Given the description of an element on the screen output the (x, y) to click on. 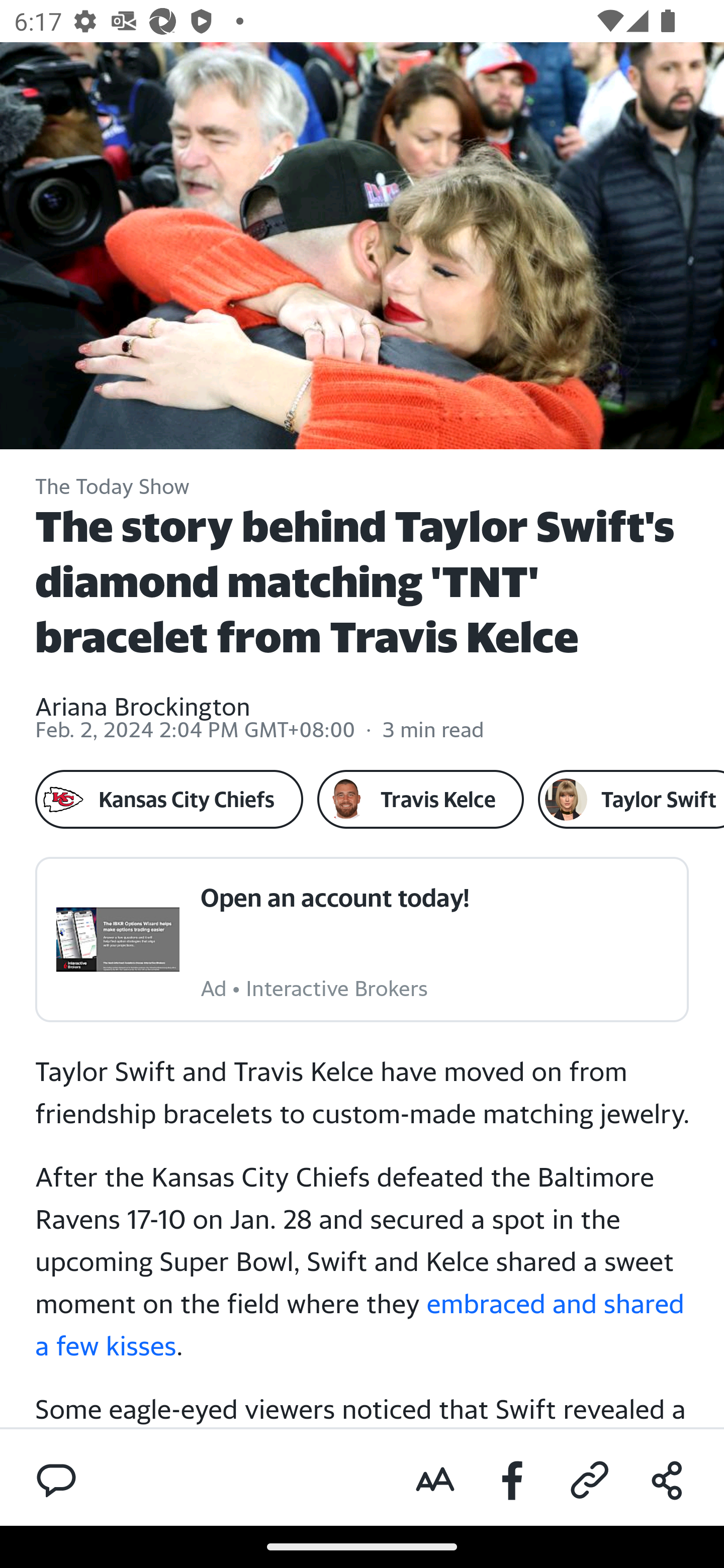
The Today Show (112, 487)
Ariana Brockington (142, 693)
Kansas City Chiefs (169, 799)
Travis Kelce (420, 799)
Taylor Swift (630, 799)
embraced and shared a few kisses (360, 1323)
View Comments (56, 1479)
Font size (435, 1480)
Share link on Facebook (512, 1480)
Copy link (590, 1480)
Share article (667, 1480)
